Given the description of an element on the screen output the (x, y) to click on. 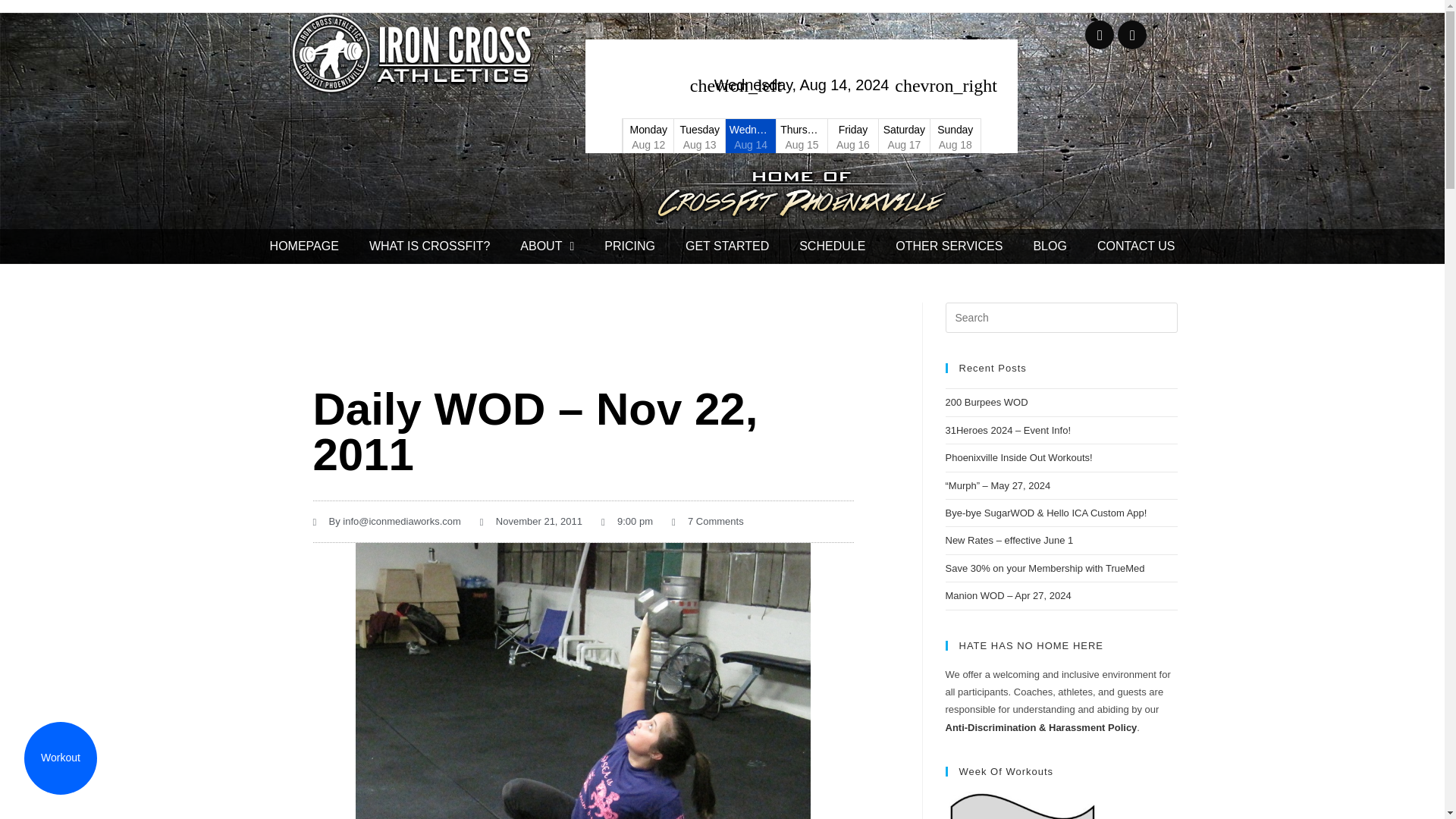
CONTACT US (1136, 246)
OTHER SERVICES (948, 246)
GET STARTED (726, 246)
Workout (60, 757)
WHAT IS CROSSFIT? (429, 246)
ABOUT (547, 246)
November 21, 2011 (531, 520)
SCHEDULE (832, 246)
PRICING (629, 246)
Full-Logo (412, 53)
